Given the description of an element on the screen output the (x, y) to click on. 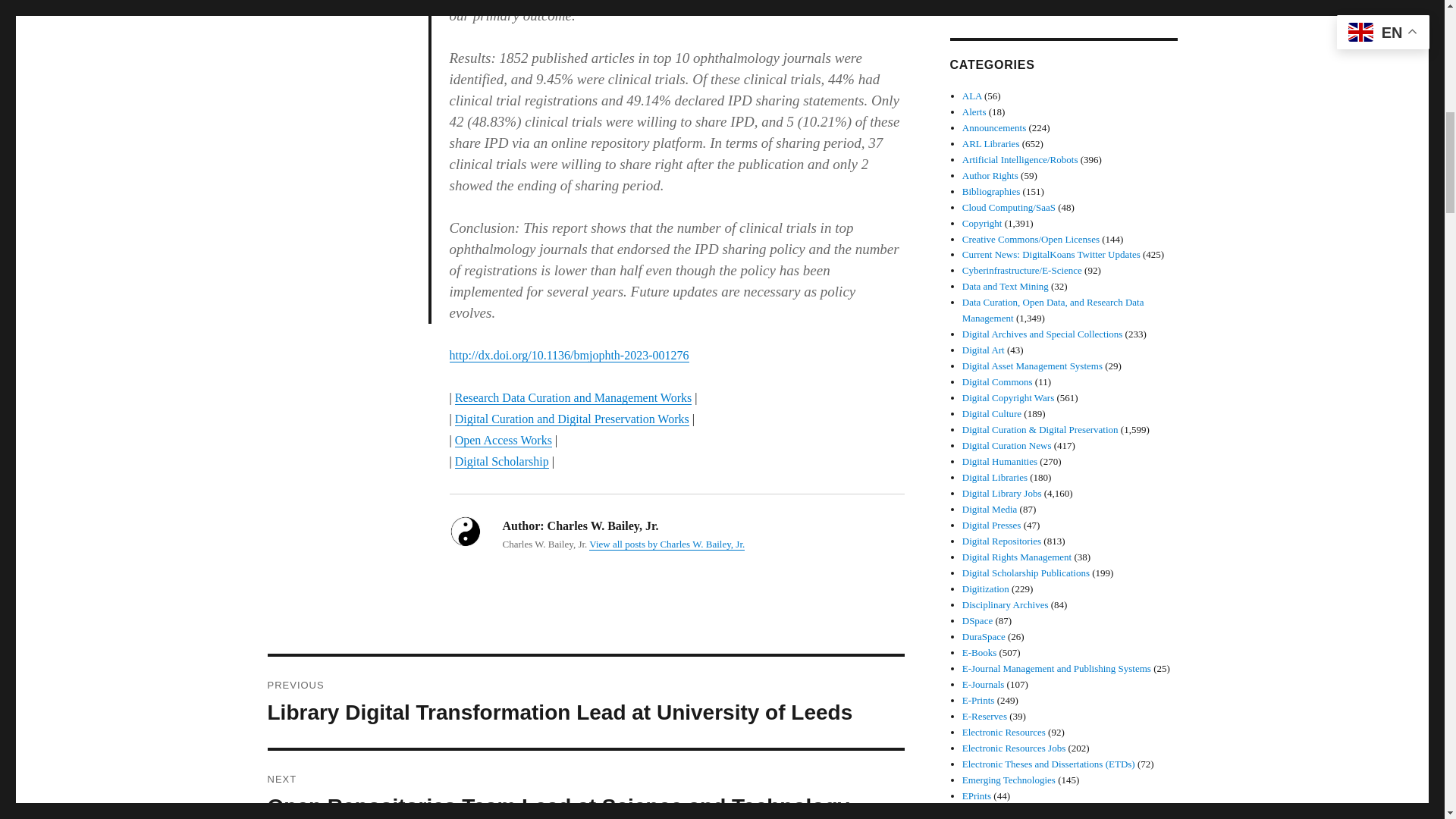
Digital Asset Management Systems (1032, 365)
Digital Art (983, 349)
Digital Archives and Special Collections (1042, 333)
Data Curation, Open Data, and Research Data Management (1053, 309)
View all posts by Charles W. Bailey, Jr. (666, 543)
Bibliographies (991, 191)
Announcements (994, 127)
Open Access Works (502, 440)
